Given the description of an element on the screen output the (x, y) to click on. 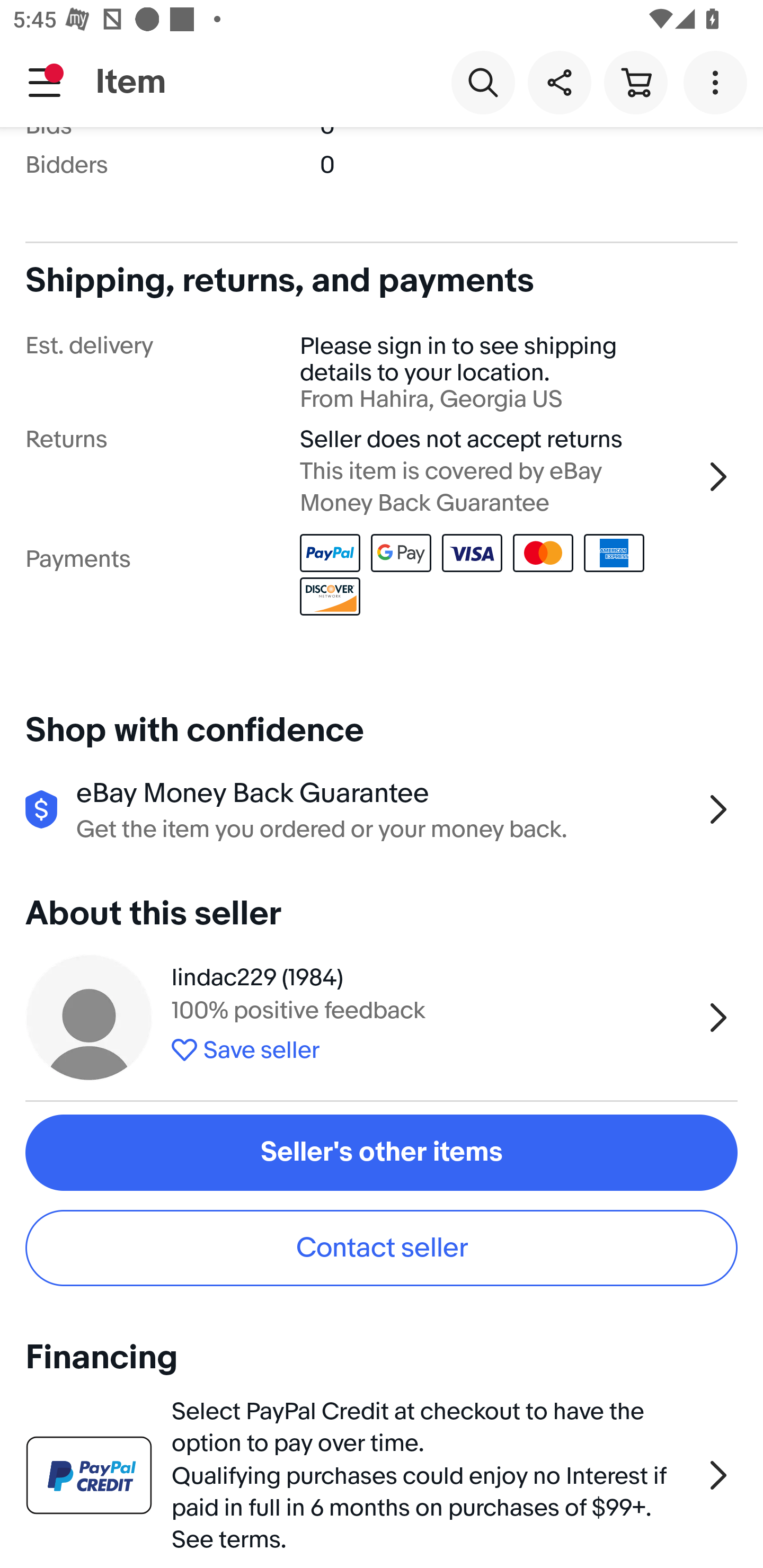
Main navigation, notification is pending, open (44, 82)
Search (482, 81)
Share this item (559, 81)
Cart button shopping cart (635, 81)
More options (718, 81)
Save seller (431, 1046)
Seller's other items (381, 1152)
Contact seller (381, 1247)
